Given the description of an element on the screen output the (x, y) to click on. 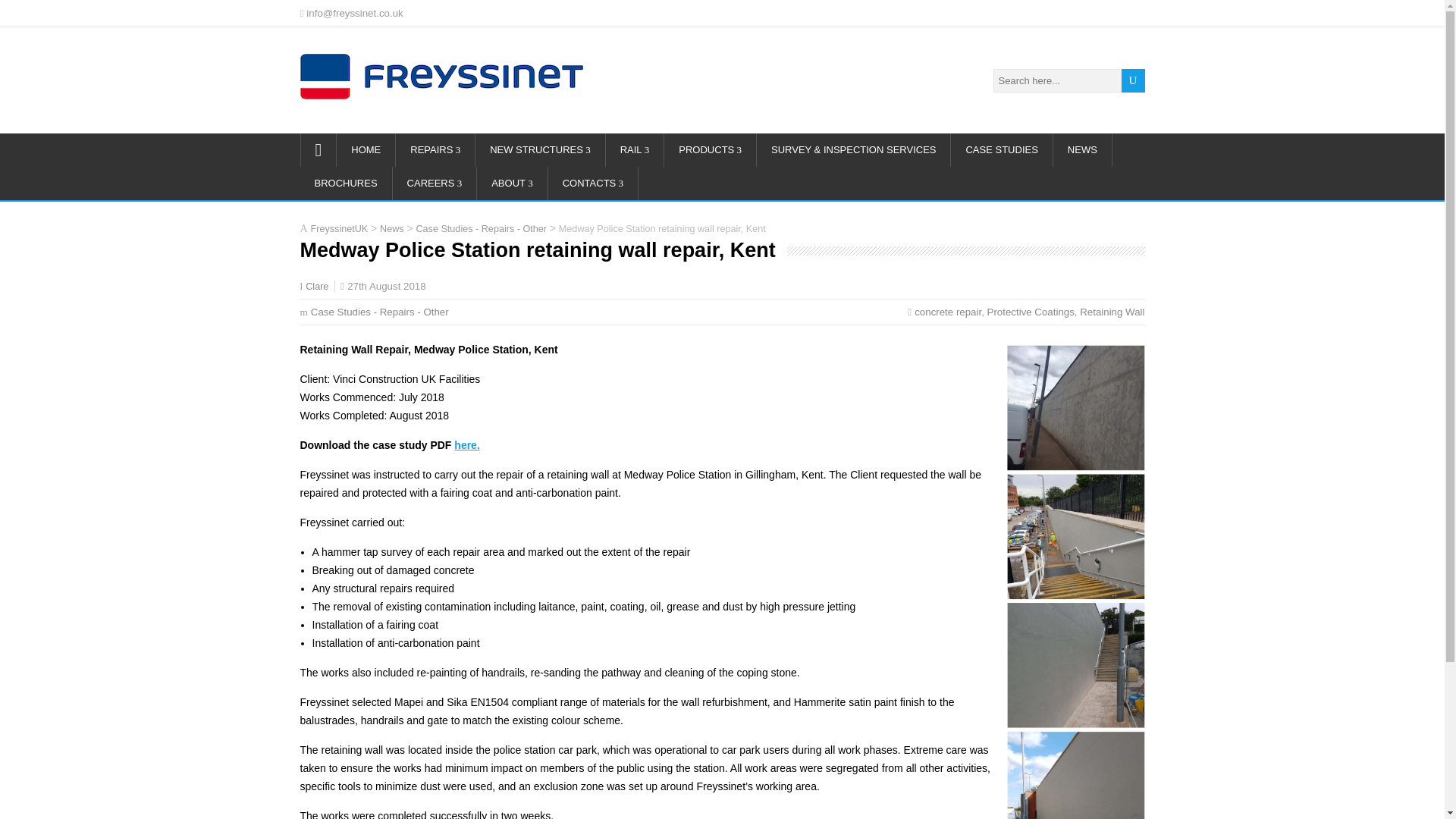
PRODUCTS (710, 150)
HOME (366, 150)
Go to FreyssinetUK. (339, 228)
Go to News. (392, 228)
U (1132, 80)
U (1132, 80)
BROCHURES (346, 183)
NEW STRUCTURES (540, 150)
U (1132, 80)
NEWS (1082, 150)
